Given the description of an element on the screen output the (x, y) to click on. 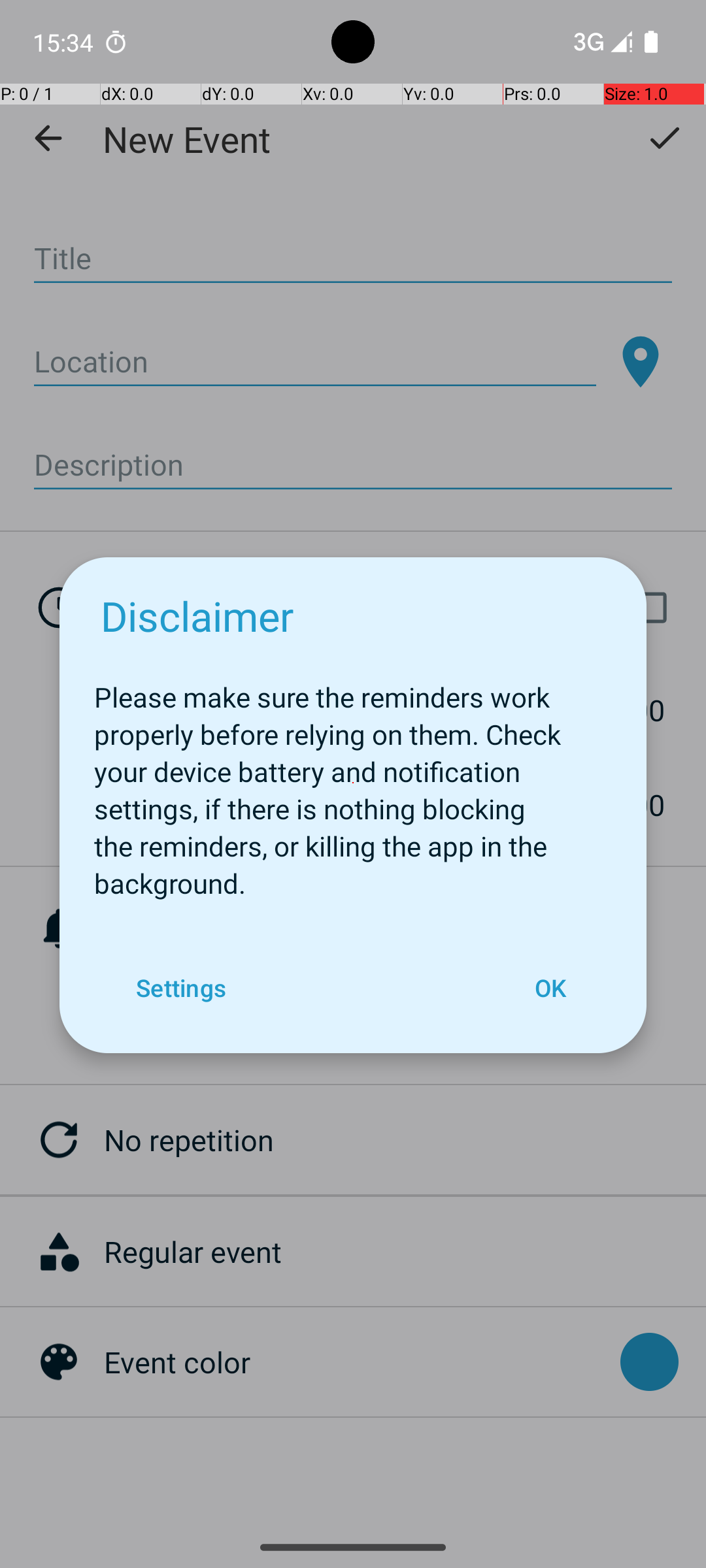
Disclaimer Element type: android.widget.TextView (196, 615)
Please make sure the reminders work properly before relying on them. Check your device battery and notification settings, if there is nothing blocking the reminders, or killing the app in the background. Element type: android.widget.TextView (352, 782)
